Given the description of an element on the screen output the (x, y) to click on. 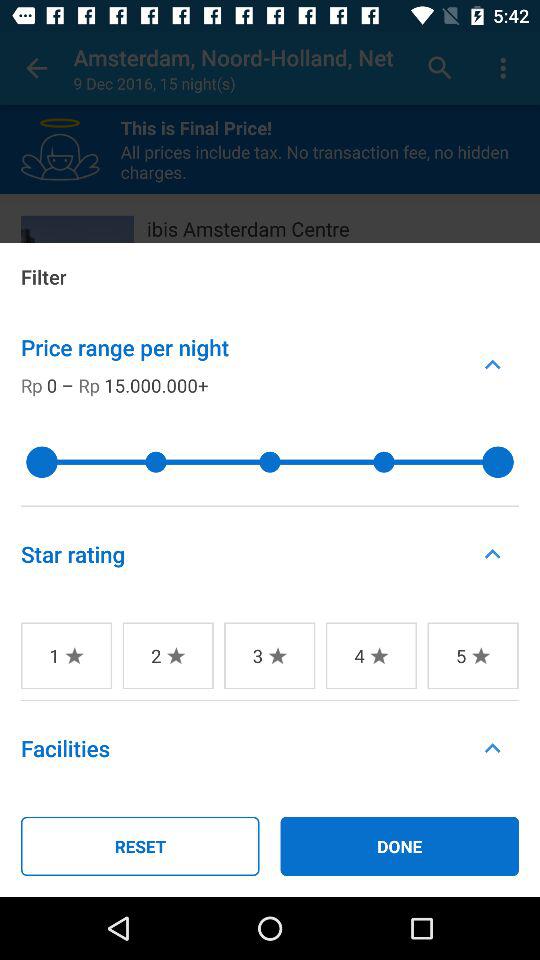
scroll to the reset item (140, 846)
